Given the description of an element on the screen output the (x, y) to click on. 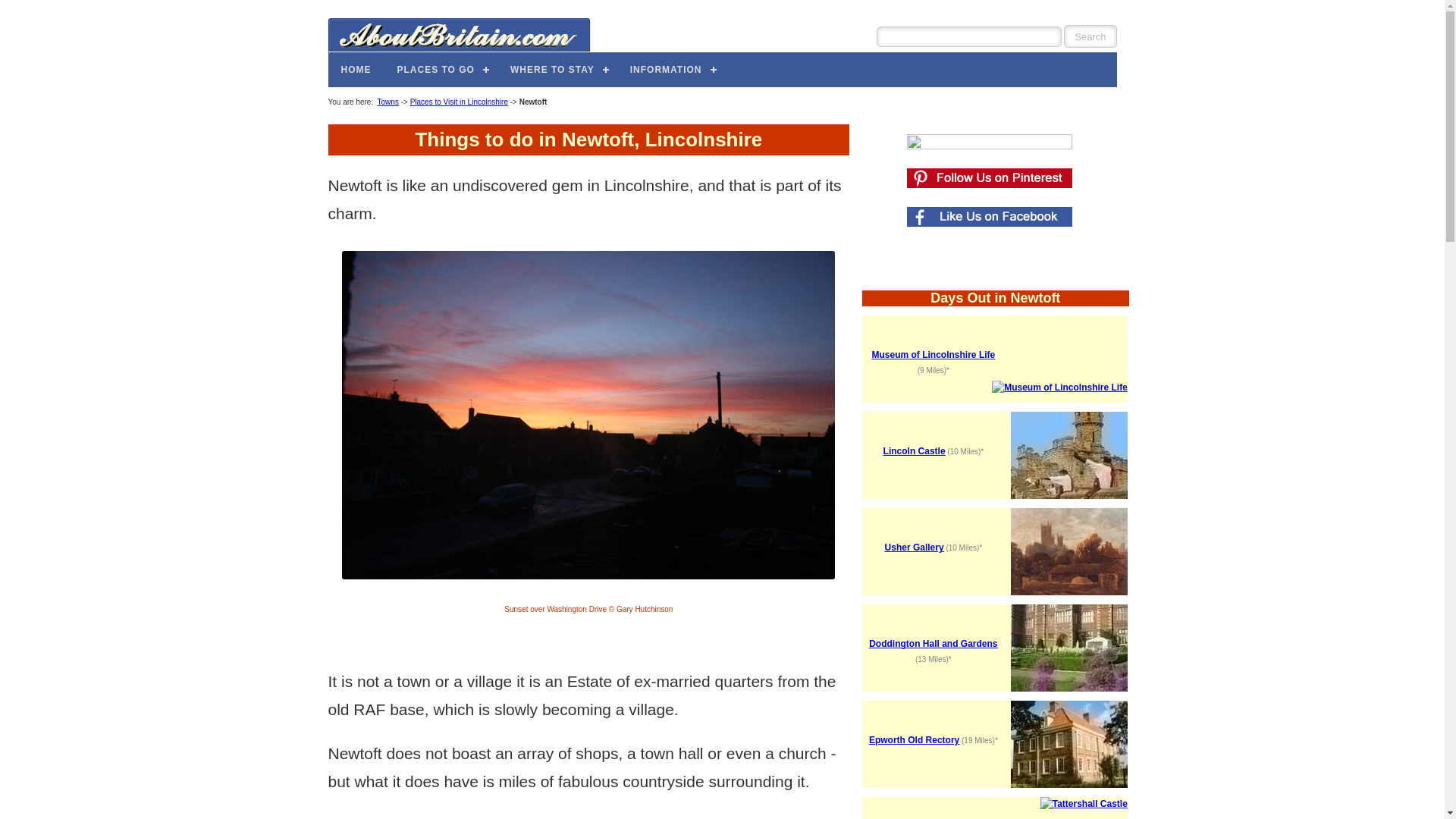
Search (1090, 36)
Search (1090, 36)
WHERE TO STAY (557, 68)
PLACES TO GO (440, 68)
HOME (355, 68)
